Given the description of an element on the screen output the (x, y) to click on. 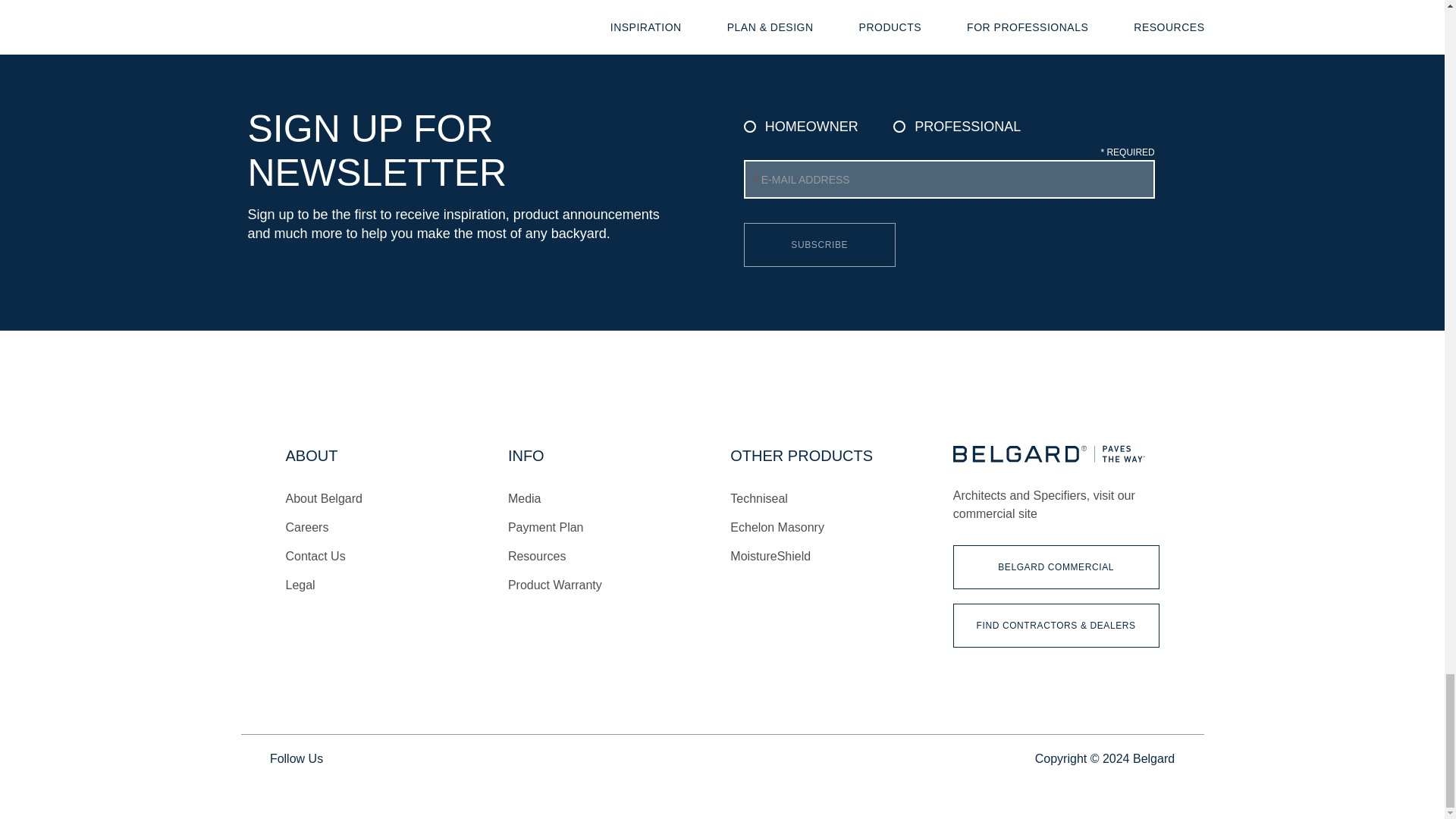
Subscribe (819, 244)
